Given the description of an element on the screen output the (x, y) to click on. 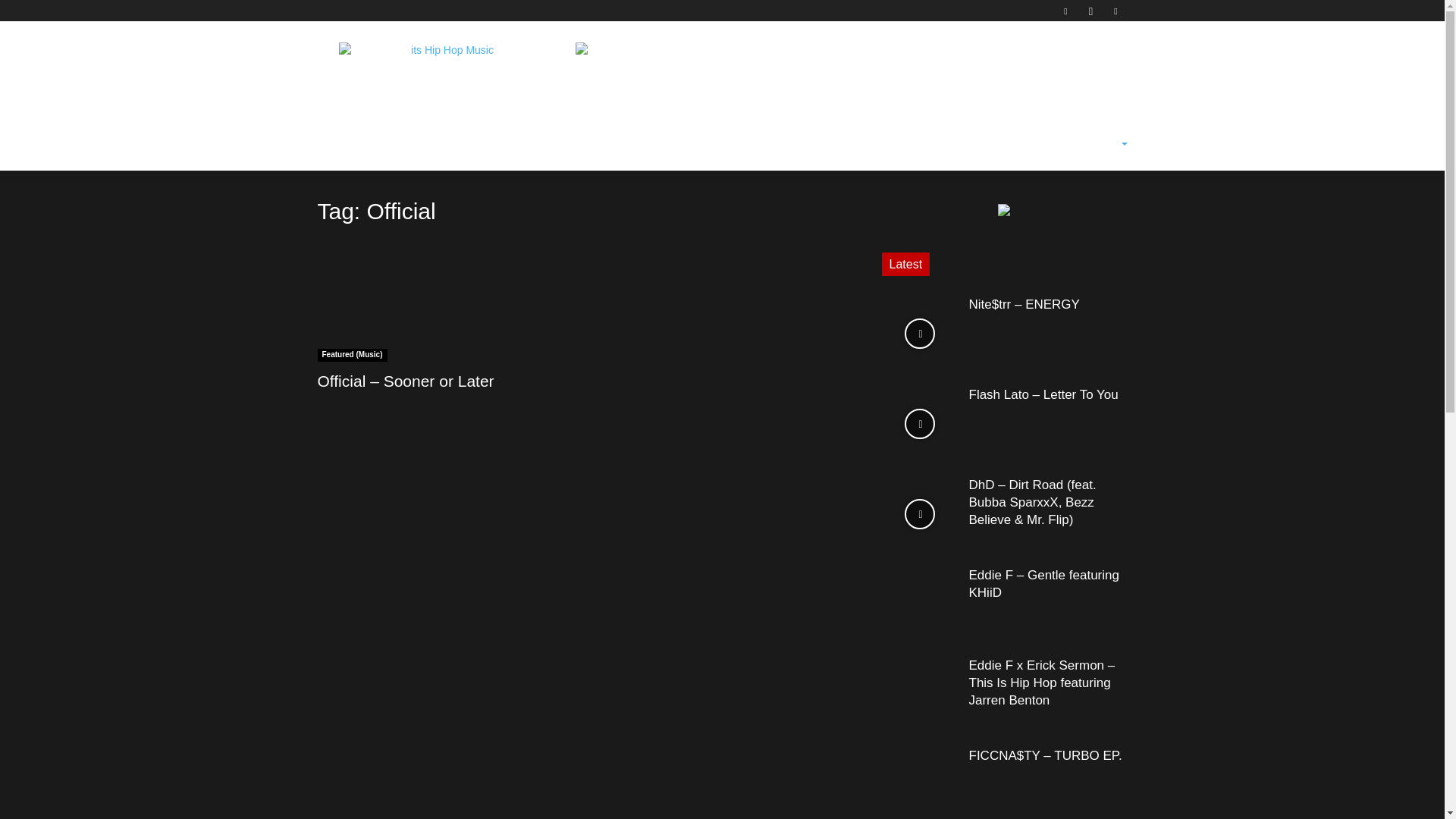
SUBMIT (577, 143)
its Hip Hop Music (445, 76)
Search (1083, 213)
Facebook (1065, 10)
Instagram (1090, 10)
HOME (343, 143)
MUSIC (397, 143)
VIDEOS (456, 143)
ARTIST (517, 143)
Twitter (1114, 10)
